Given the description of an element on the screen output the (x, y) to click on. 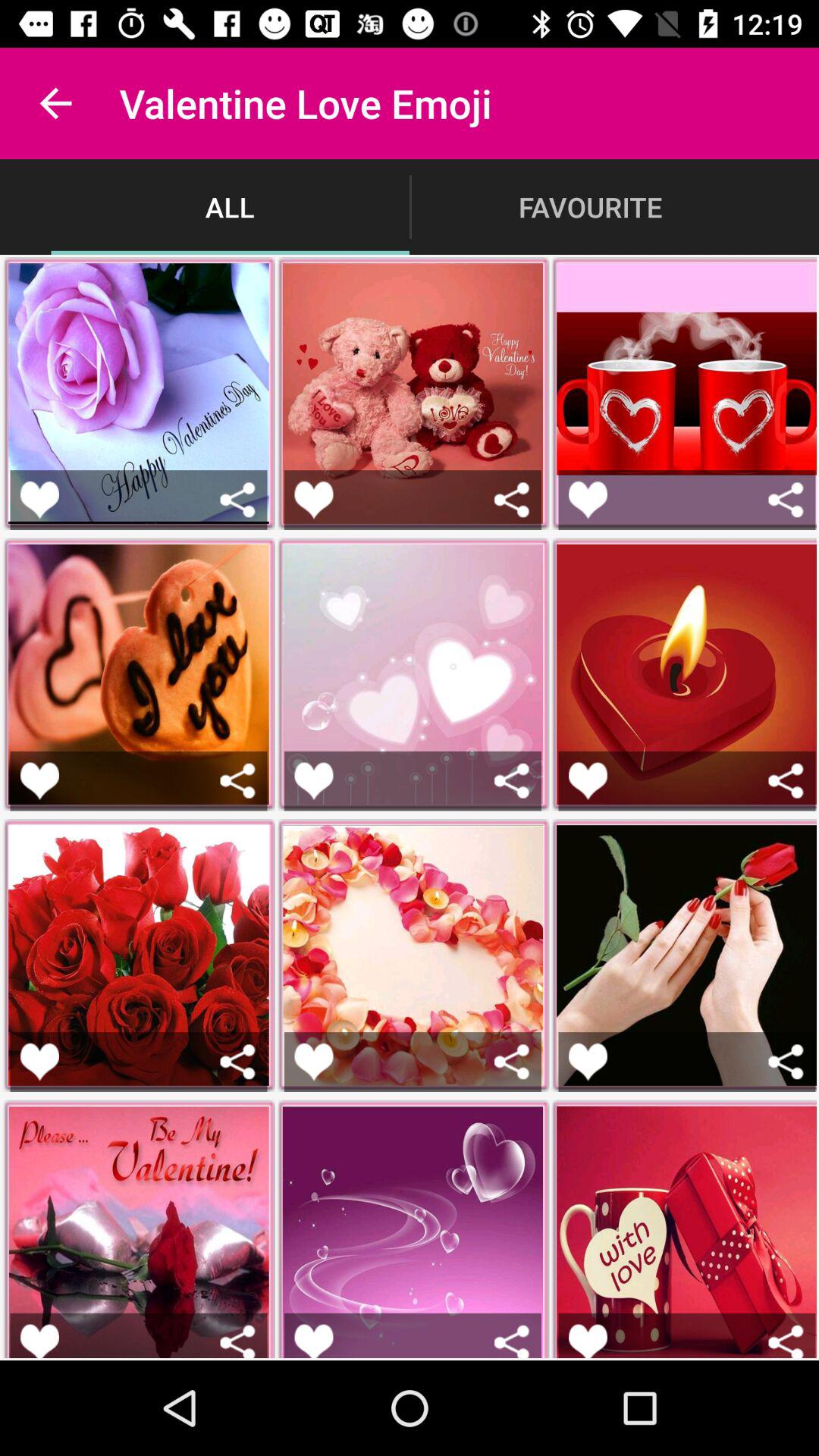
like picture (587, 780)
